Given the description of an element on the screen output the (x, y) to click on. 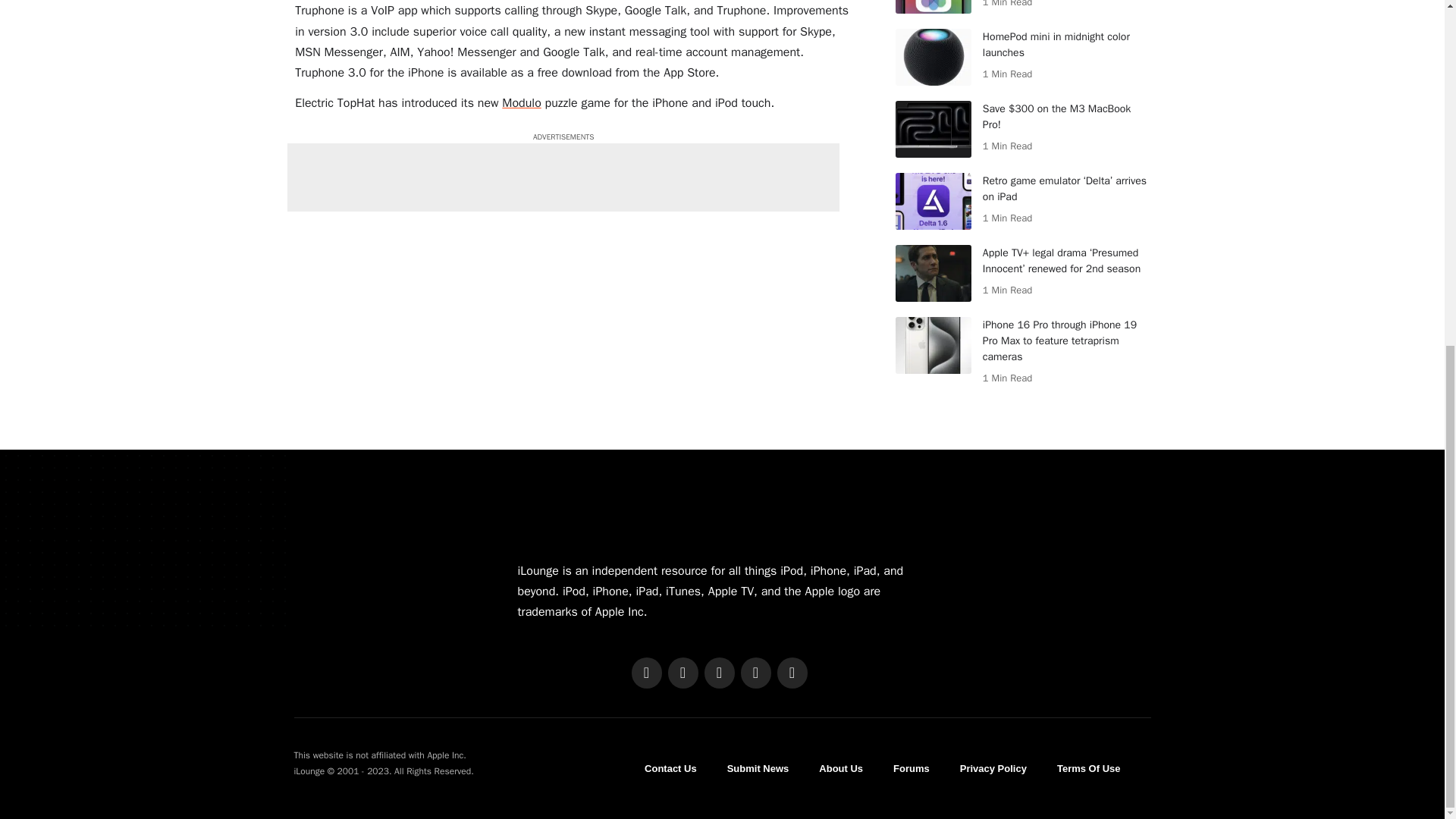
Advertisement (563, 177)
HomePod mini in midnight color launches (933, 56)
